Given the description of an element on the screen output the (x, y) to click on. 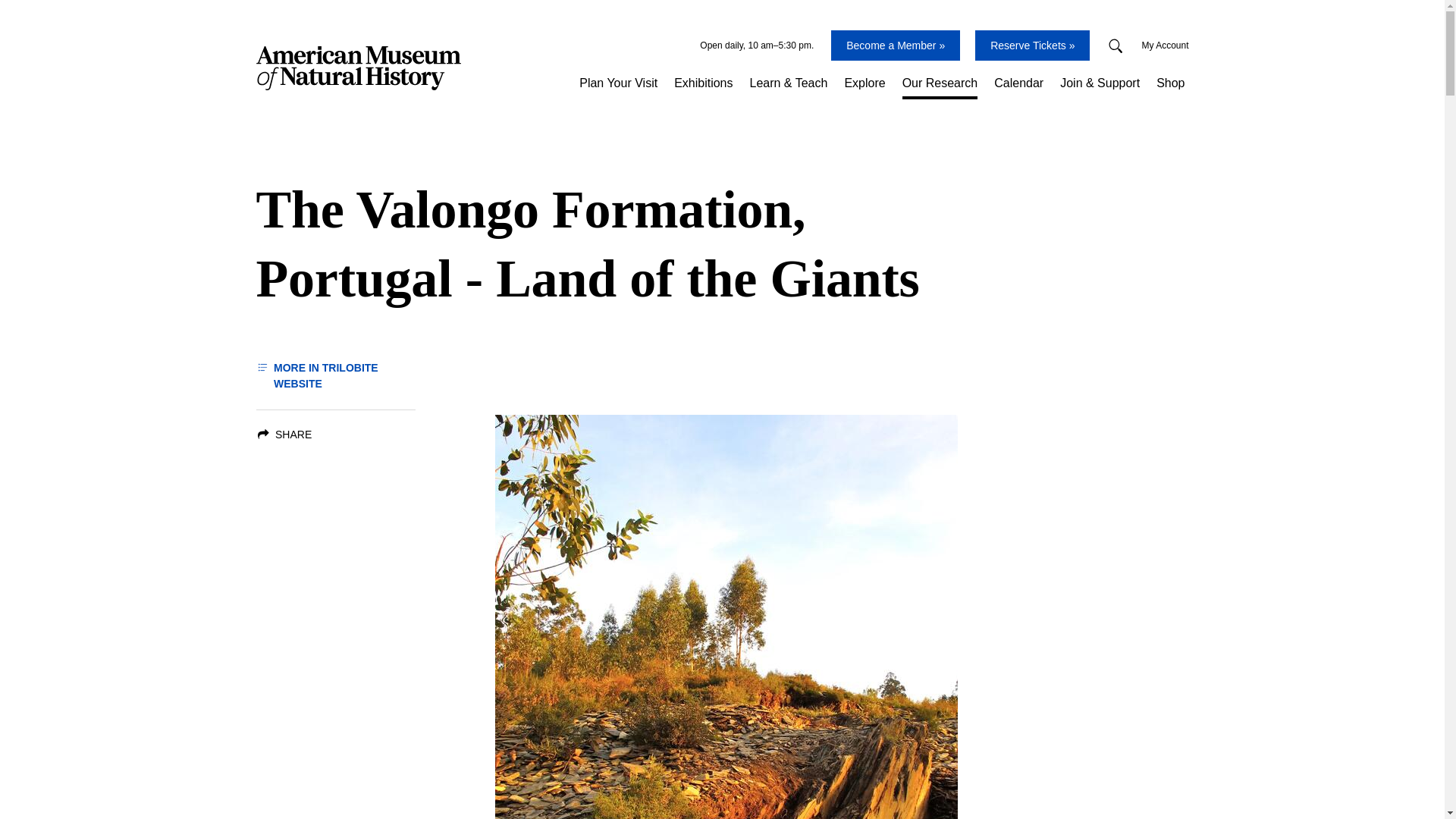
My Account (1164, 45)
Reserve Tickets (1032, 45)
Plan Your Visit (618, 84)
Become a Member (895, 45)
Exhibitions (702, 84)
